Given the description of an element on the screen output the (x, y) to click on. 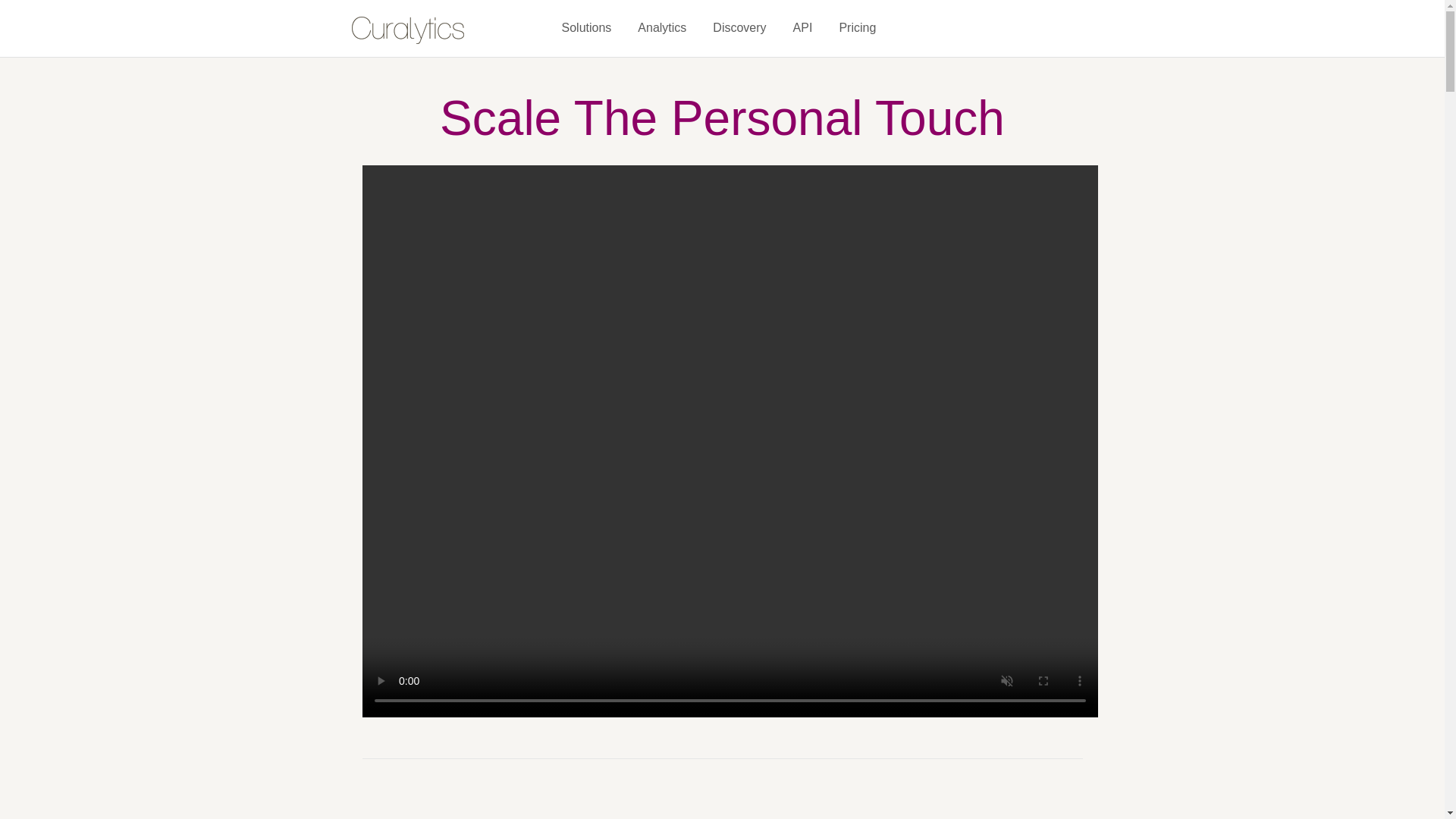
Discovery (739, 27)
Solutions (585, 27)
